Given the description of an element on the screen output the (x, y) to click on. 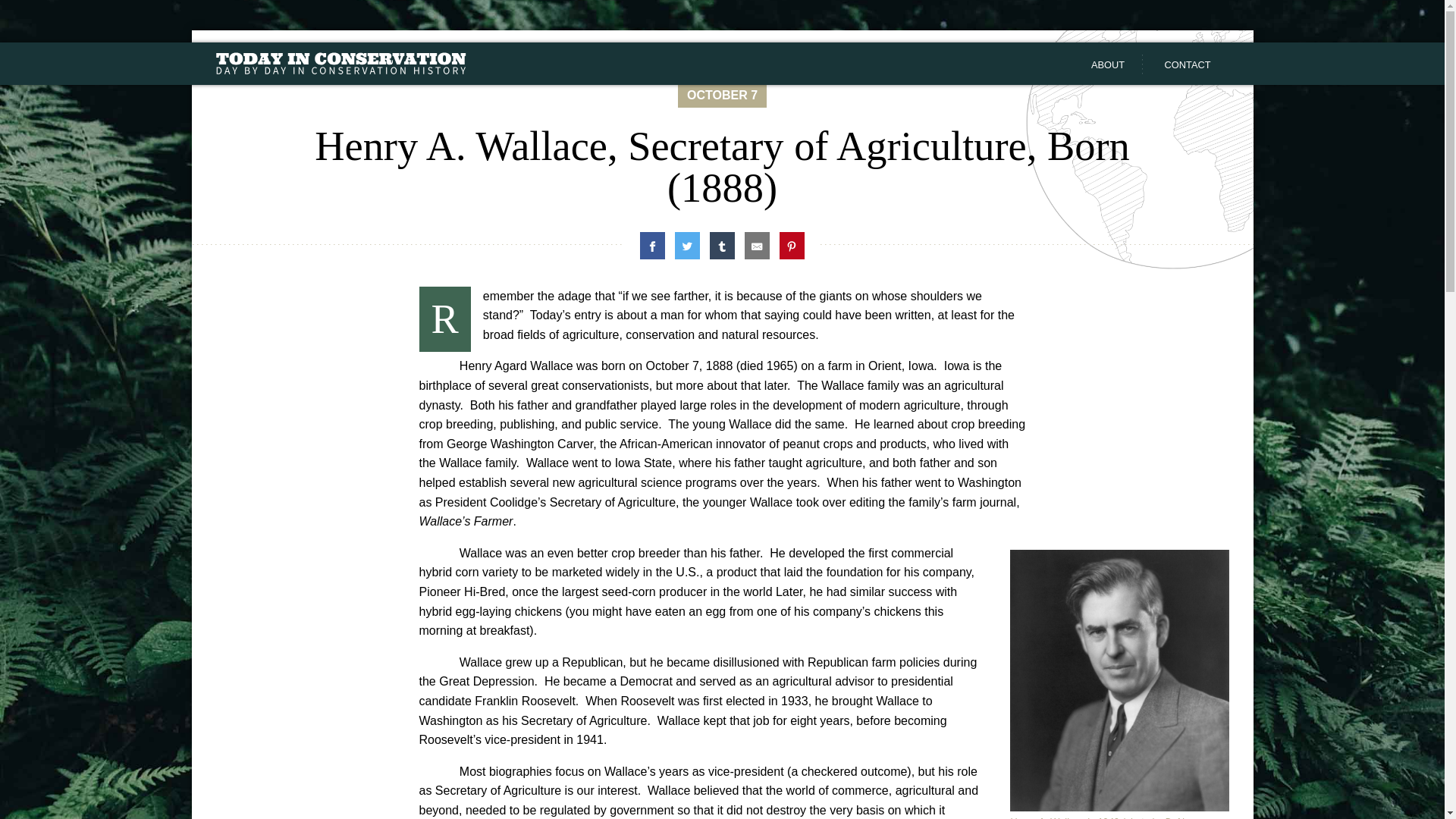
CONTACT (1187, 64)
ABOUT (1107, 64)
